Given the description of an element on the screen output the (x, y) to click on. 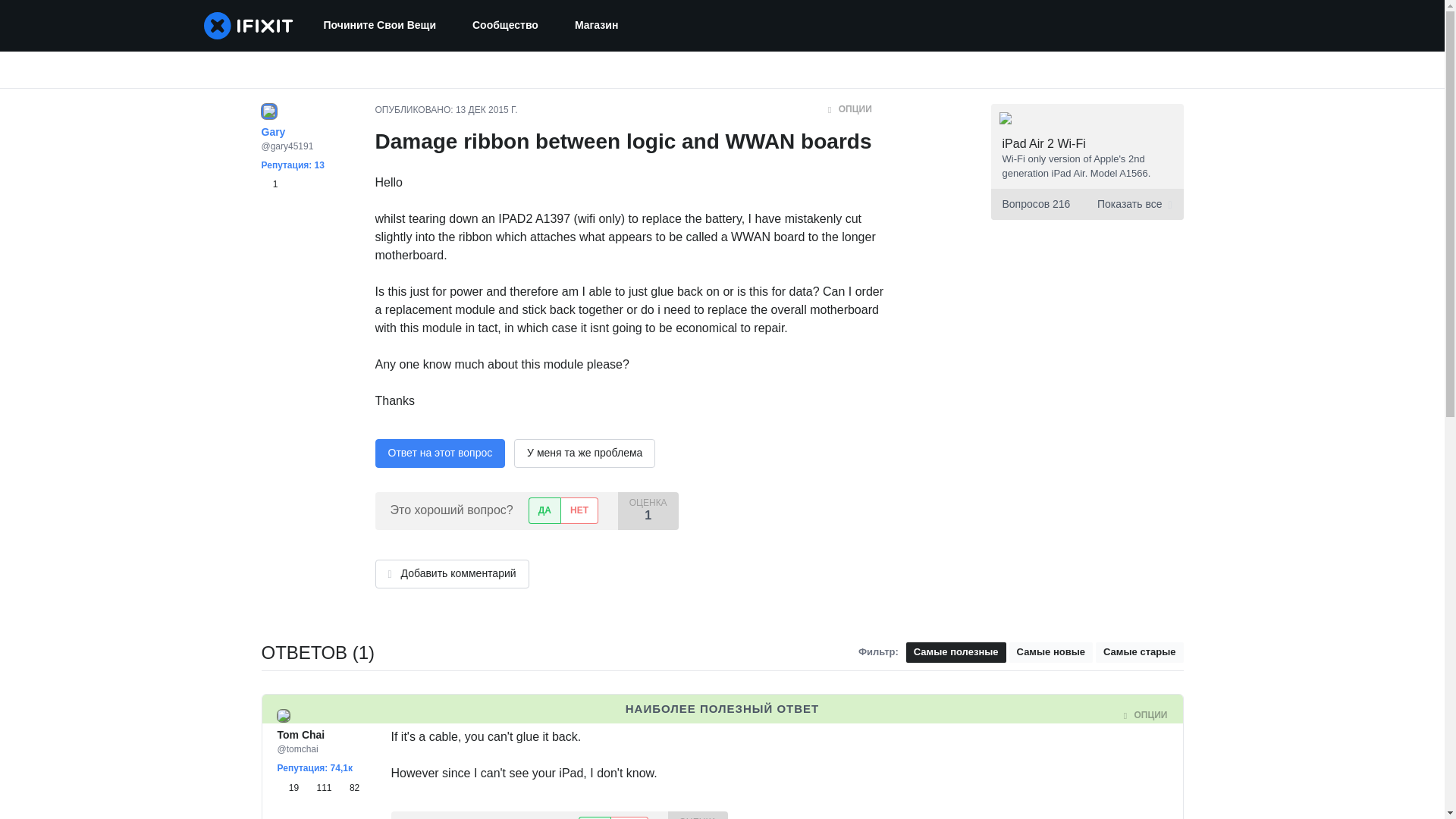
1 (269, 184)
19 111 82 (318, 787)
iPad Air 2 Wi-Fi (1044, 143)
Sun, 13 Dec 2015 05:04:57 -0700 (486, 109)
Tue, 09 Feb 2016 13:37:35 -0700 (500, 715)
